Given the description of an element on the screen output the (x, y) to click on. 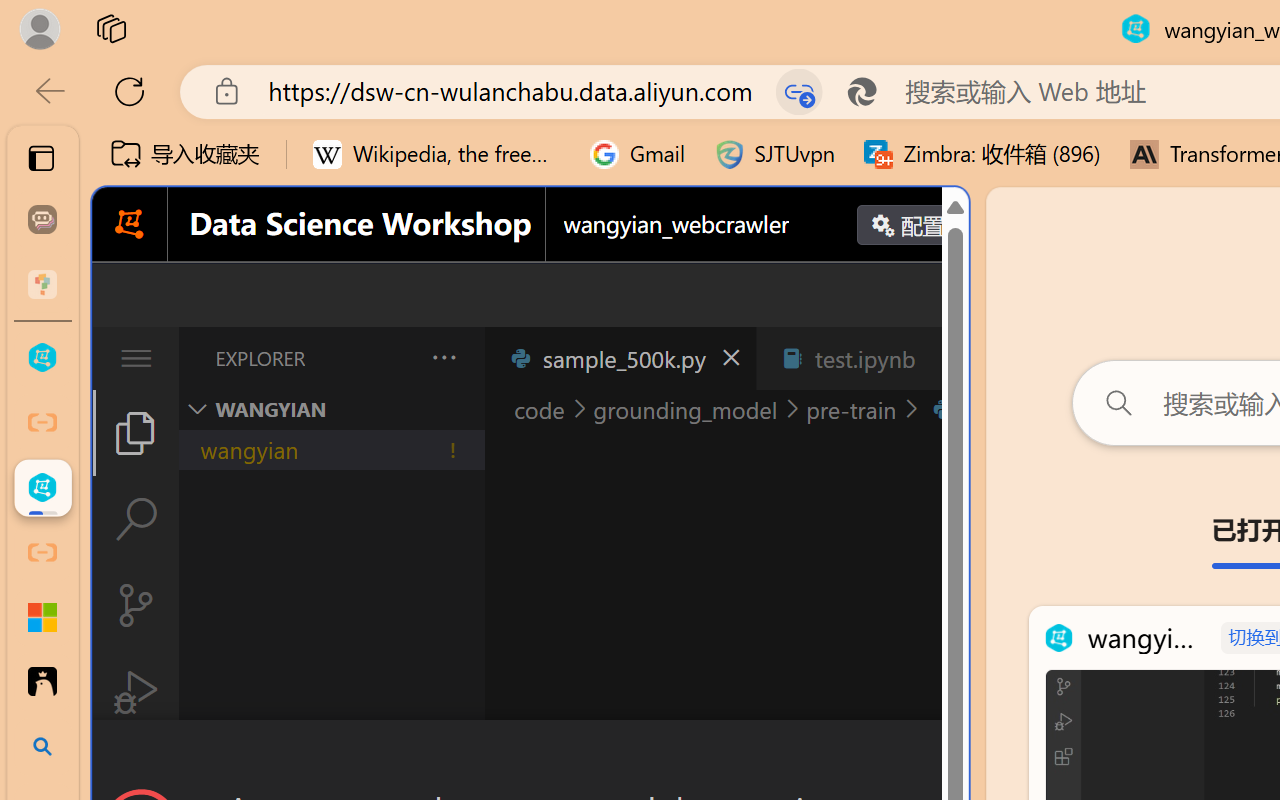
wangyian_dsw - DSW (42, 357)
Adjust indents and spacing - Microsoft Support (42, 617)
Source Control (Ctrl+Shift+G) (135, 604)
Class: actions-container (529, 756)
SJTUvpn (774, 154)
Explorer Section: wangyian (331, 409)
Wikipedia, the free encyclopedia (437, 154)
Tab actions (945, 358)
